Given the description of an element on the screen output the (x, y) to click on. 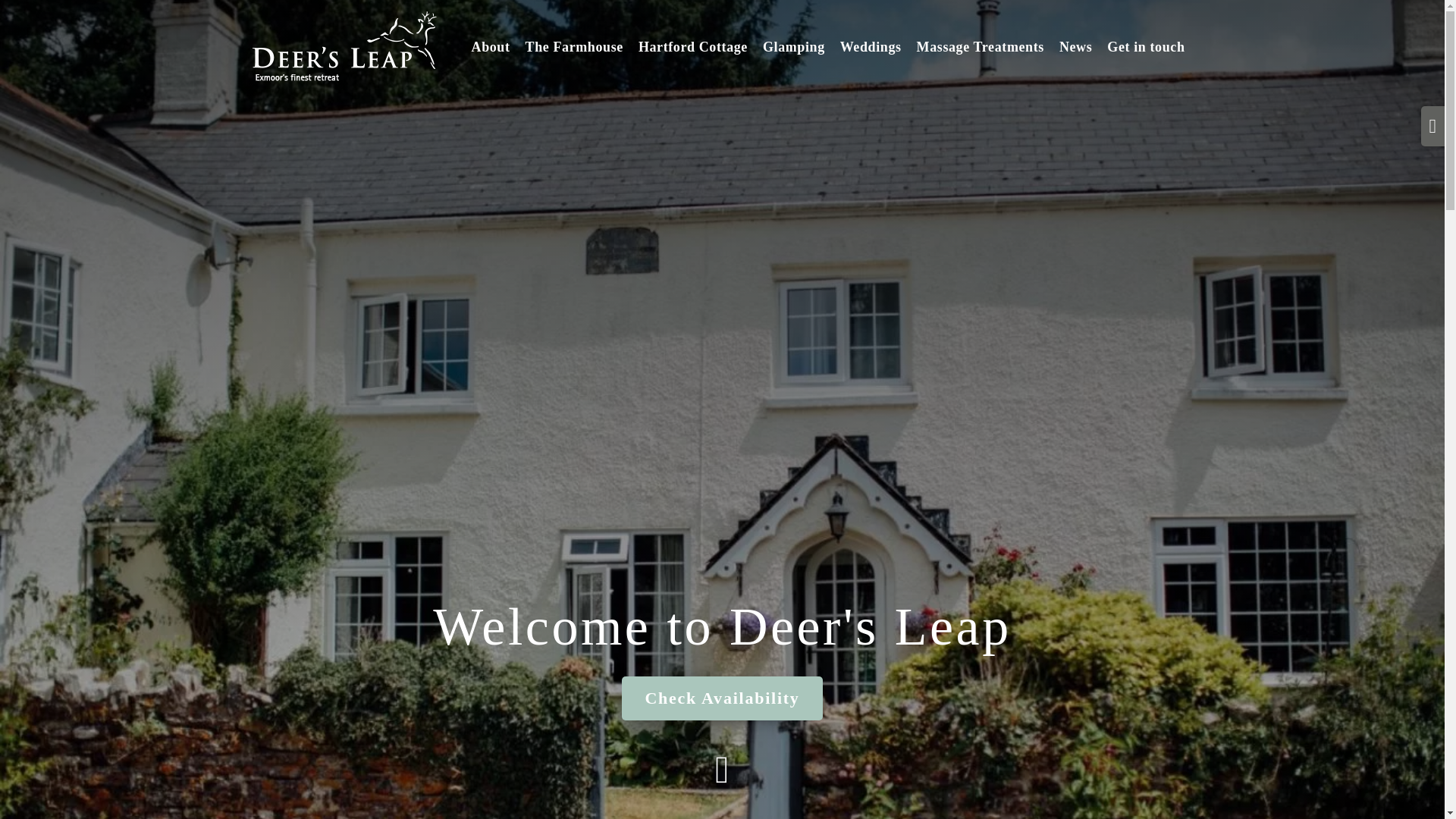
Weddings (870, 46)
Get in touch (1145, 46)
The Farmhouse (574, 46)
About (491, 46)
Massage Treatments (979, 46)
News (1075, 46)
Hartford Cottage (692, 46)
Glamping (793, 46)
Check Availability (721, 698)
